Given the description of an element on the screen output the (x, y) to click on. 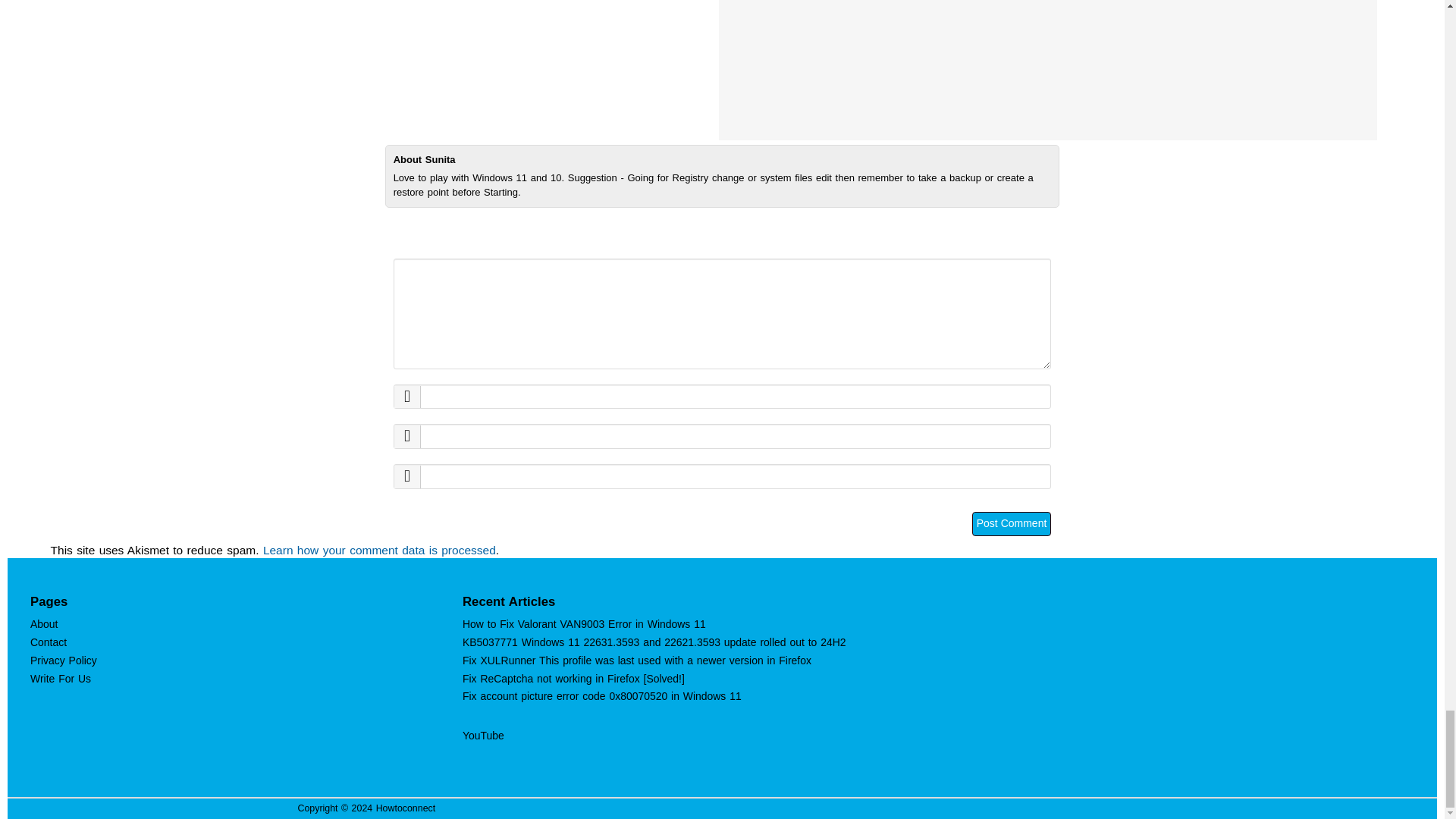
About (44, 623)
Post Comment (1011, 523)
Learn how your comment data is processed (379, 549)
Post Comment (1011, 523)
